Given the description of an element on the screen output the (x, y) to click on. 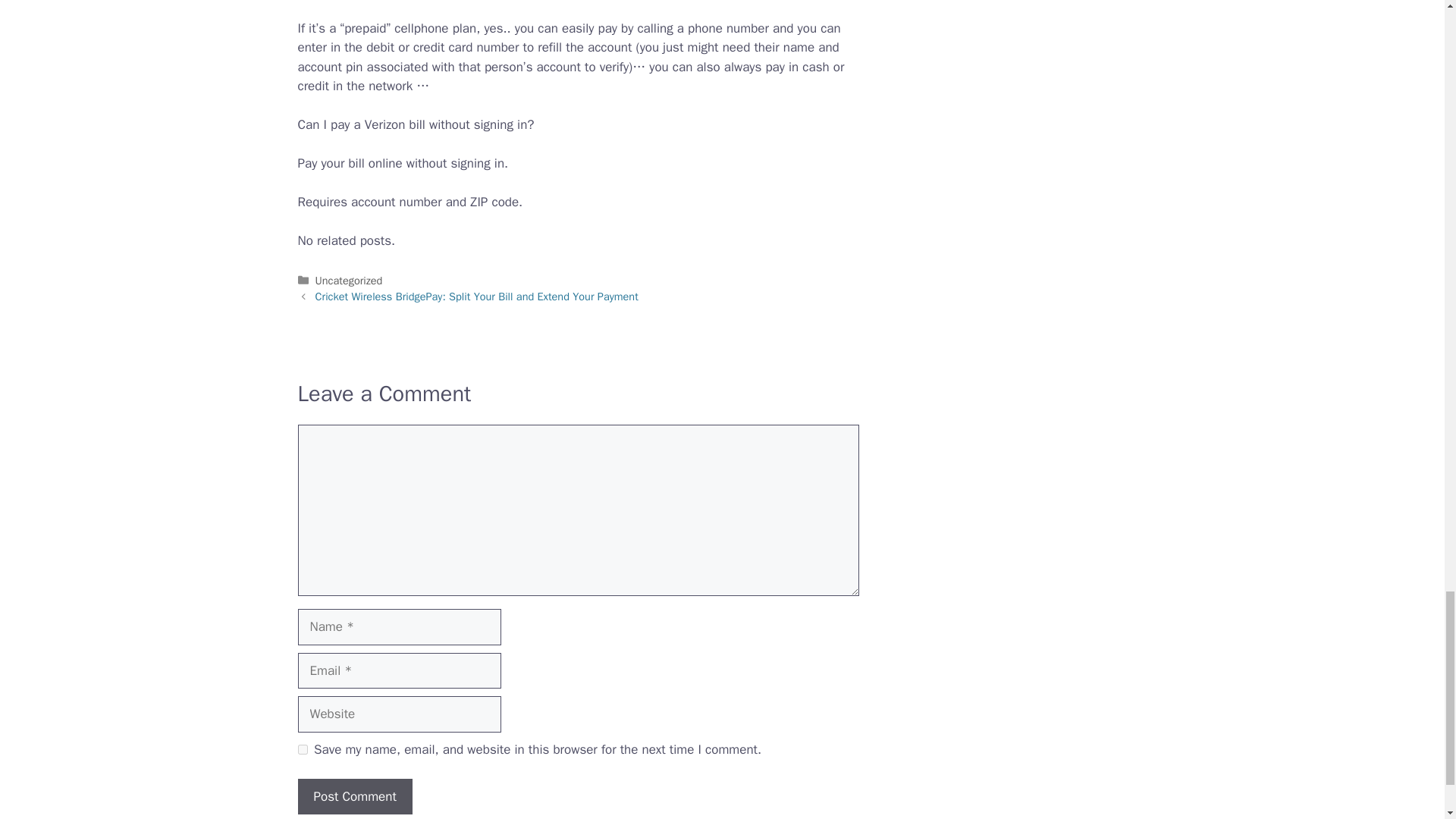
Post Comment (354, 796)
Post Comment (354, 796)
yes (302, 749)
